Given the description of an element on the screen output the (x, y) to click on. 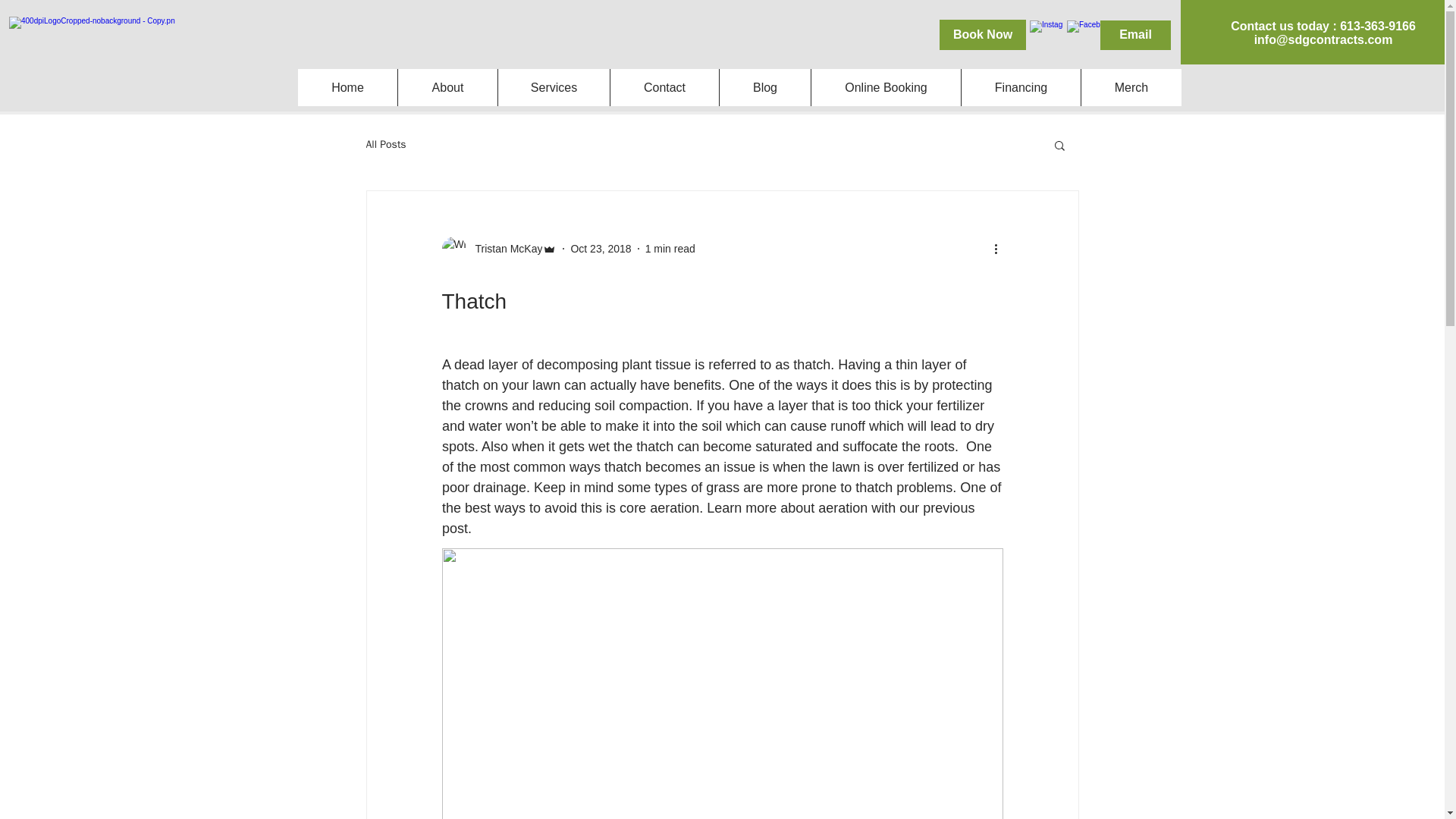
About (447, 87)
Email (1135, 34)
Contact (664, 87)
Tristan McKay (503, 248)
All Posts (385, 144)
Blog (764, 87)
Home (347, 87)
Financing (1020, 87)
Tristan McKay (498, 248)
1 min read (670, 248)
